Given the description of an element on the screen output the (x, y) to click on. 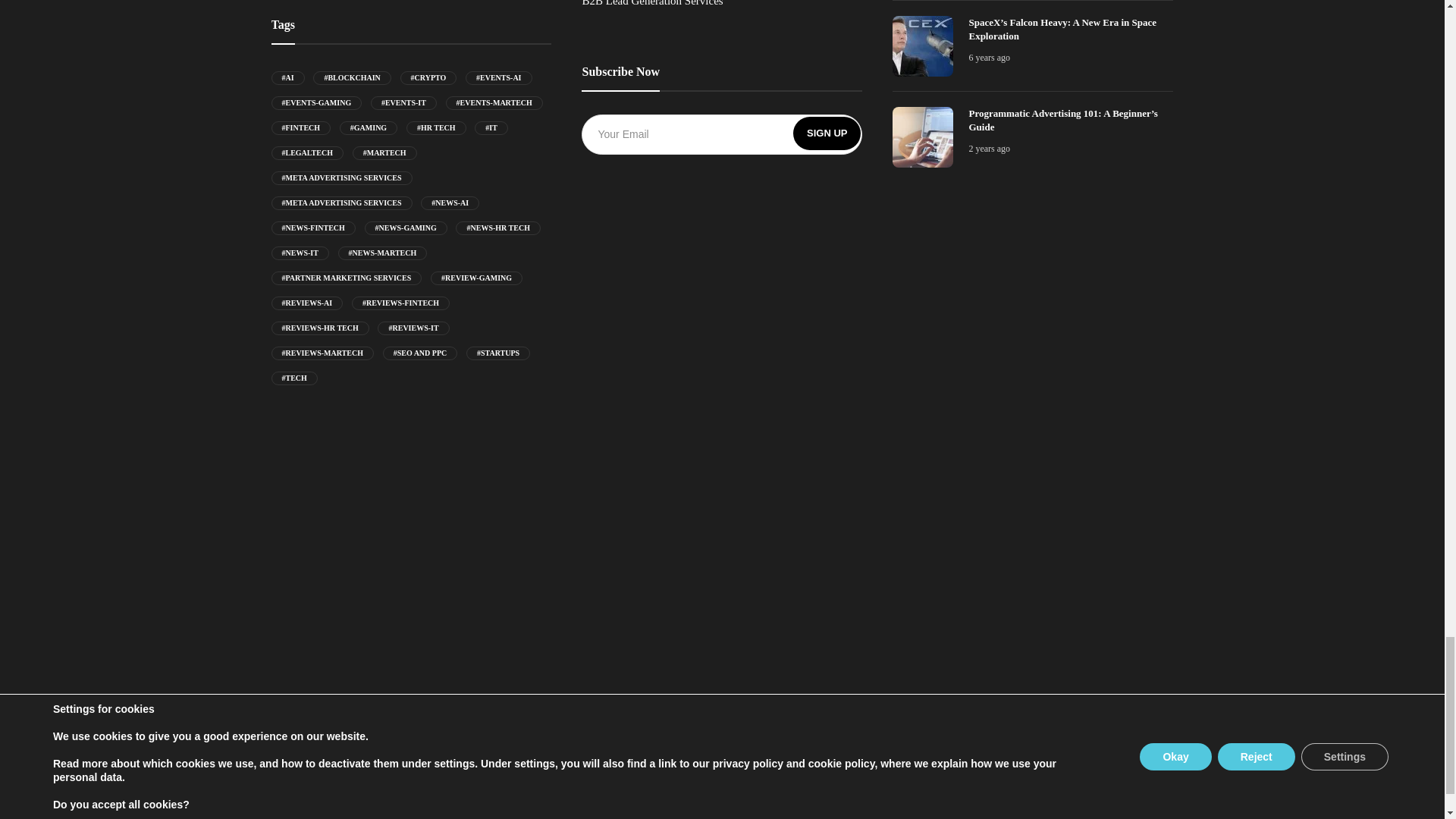
Sign Up (826, 133)
